Given the description of an element on the screen output the (x, y) to click on. 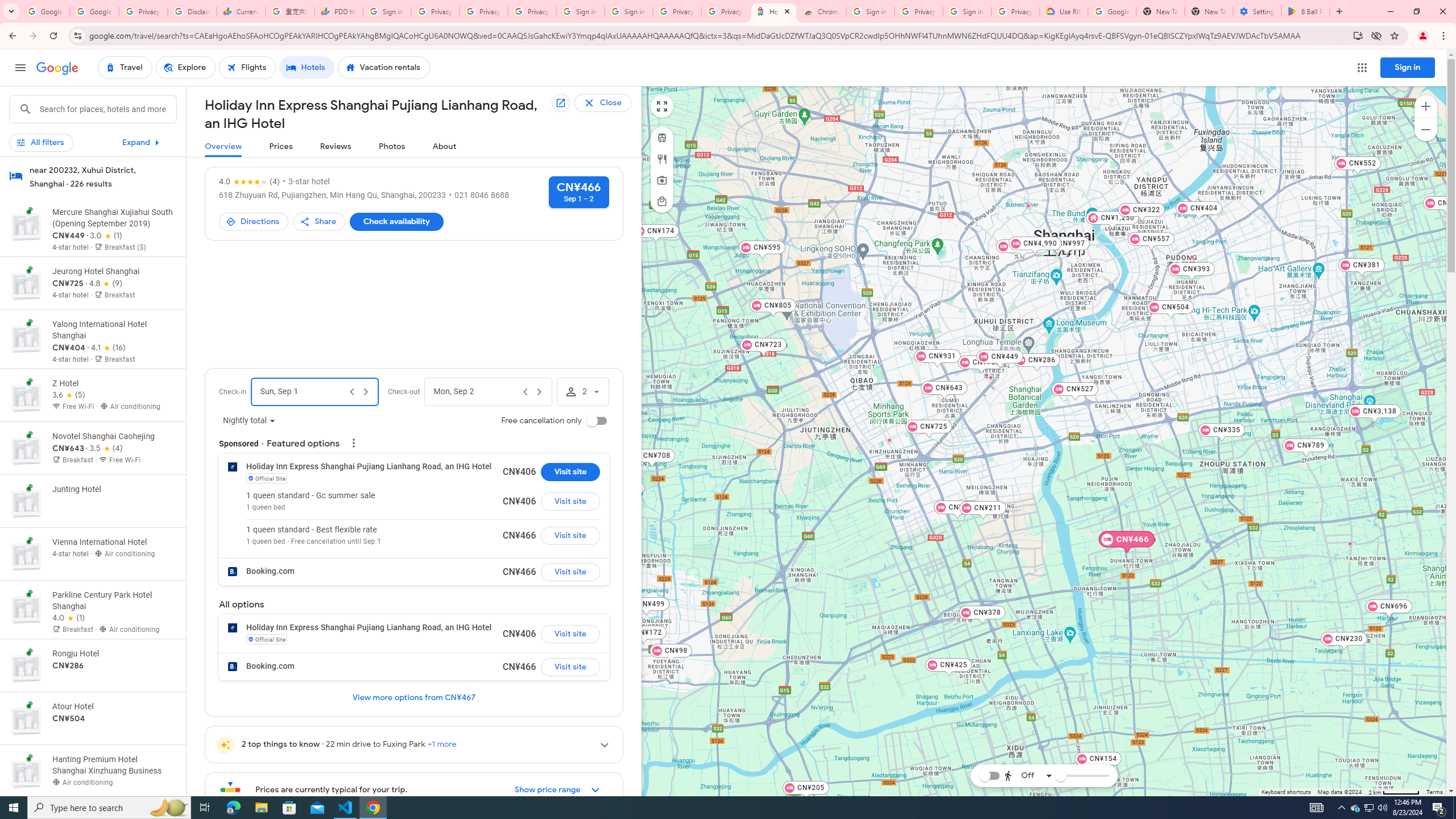
Skip to main content (92, 147)
Directions (253, 221)
Zoom in map (1425, 106)
4.1 out of 5 stars from 16 reviews (107, 347)
Free cancellation only (596, 420)
About (444, 146)
Off (1027, 775)
